Given the description of an element on the screen output the (x, y) to click on. 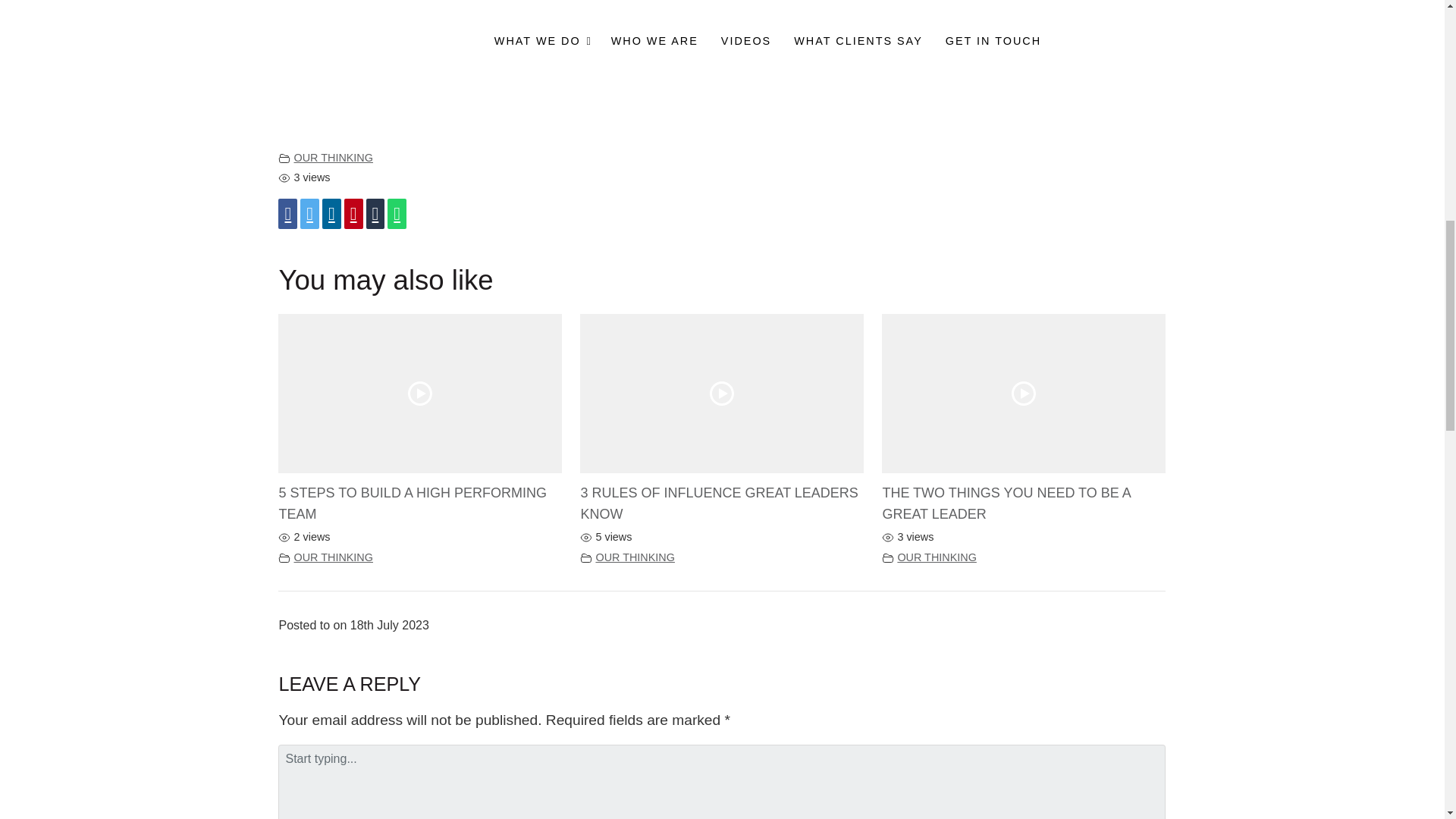
Facebook (287, 214)
OUR THINKING (333, 157)
Pin It (352, 214)
OUR THINKING (634, 557)
Tumblr (375, 214)
5 STEPS TO BUILD A HIGH PERFORMING TEAM (412, 503)
WhatsApp (396, 214)
Linkedin (330, 214)
3 RULES OF INFLUENCE GREAT LEADERS KNOW (718, 503)
THE TWO THINGS YOU NEED TO BE A GREAT LEADER (1005, 503)
OUR THINKING (333, 557)
Twitter (308, 214)
OUR THINKING (935, 557)
HOW LEADERS CAN INFLUENCE EFFORTLESSLY (722, 69)
